Given the description of an element on the screen output the (x, y) to click on. 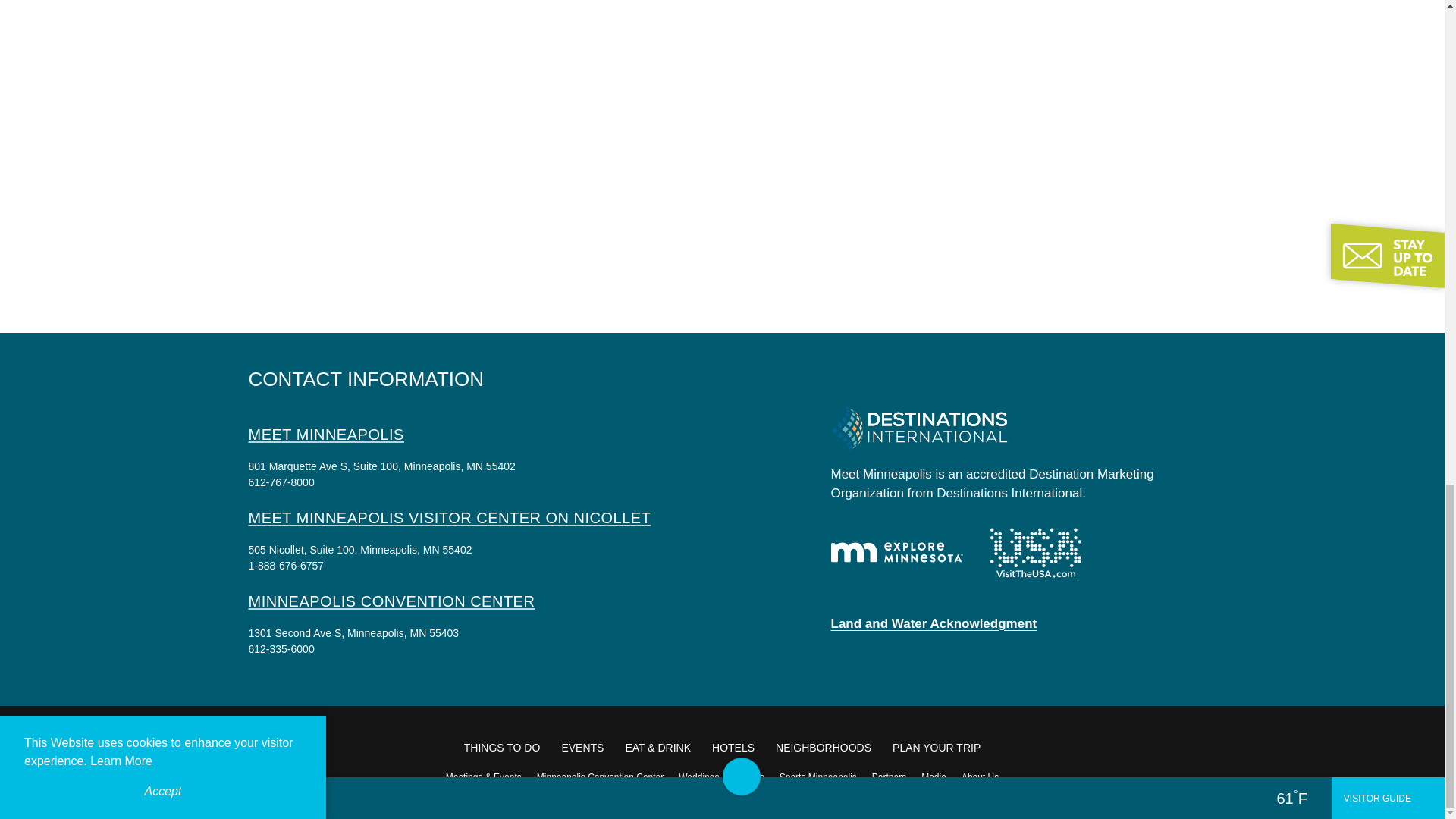
MEET MINNEAPOLIS (326, 434)
MINNEAPOLIS CONVENTION CENTER (391, 600)
Land and Water Acknowledgment (933, 623)
MEET MINNEAPOLIS VISITOR CENTER ON NICOLLET (449, 517)
THINGS TO DO (501, 747)
